Given the description of an element on the screen output the (x, y) to click on. 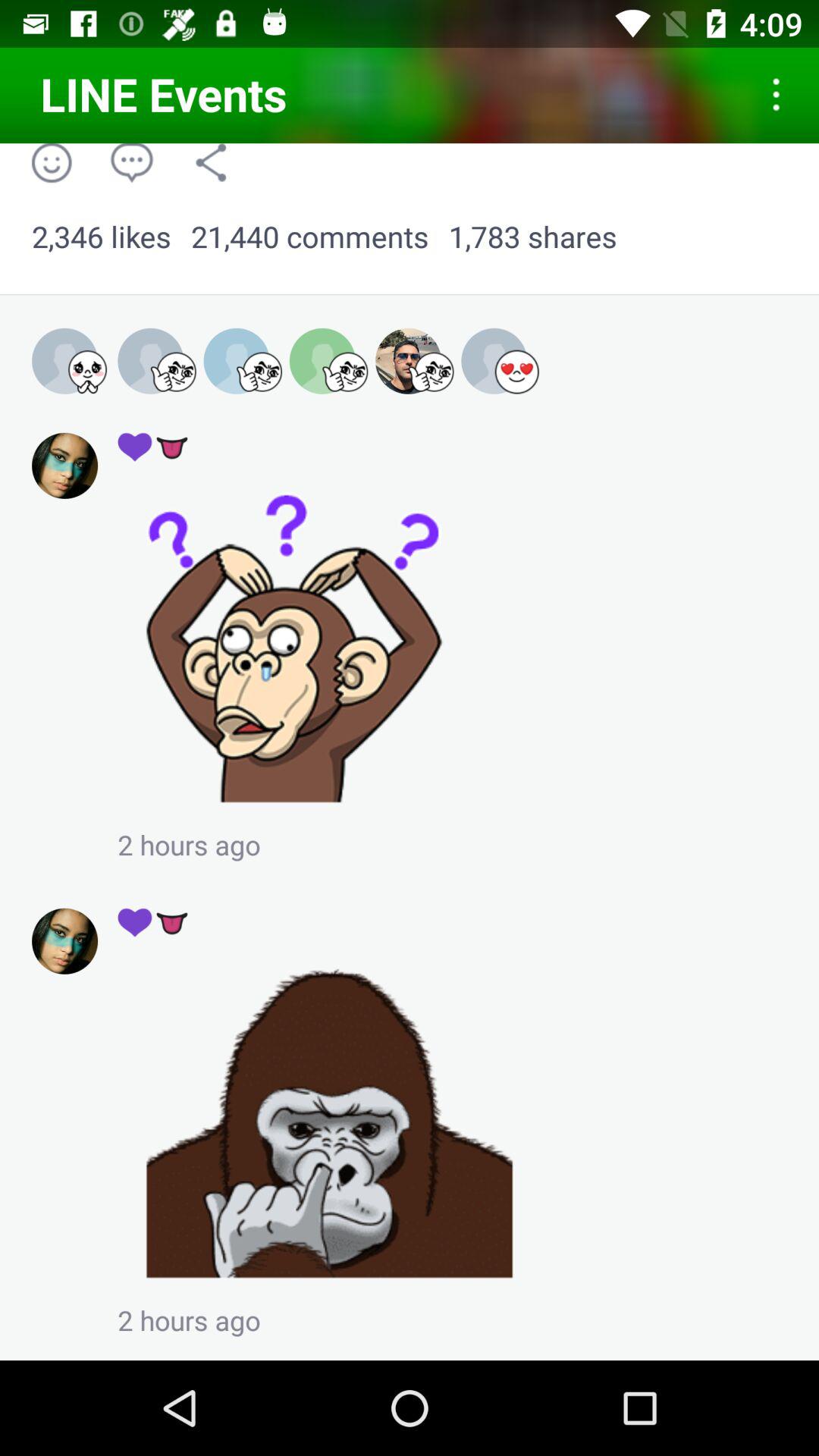
choose icon to the left of 1,783 shares icon (309, 237)
